Given the description of an element on the screen output the (x, y) to click on. 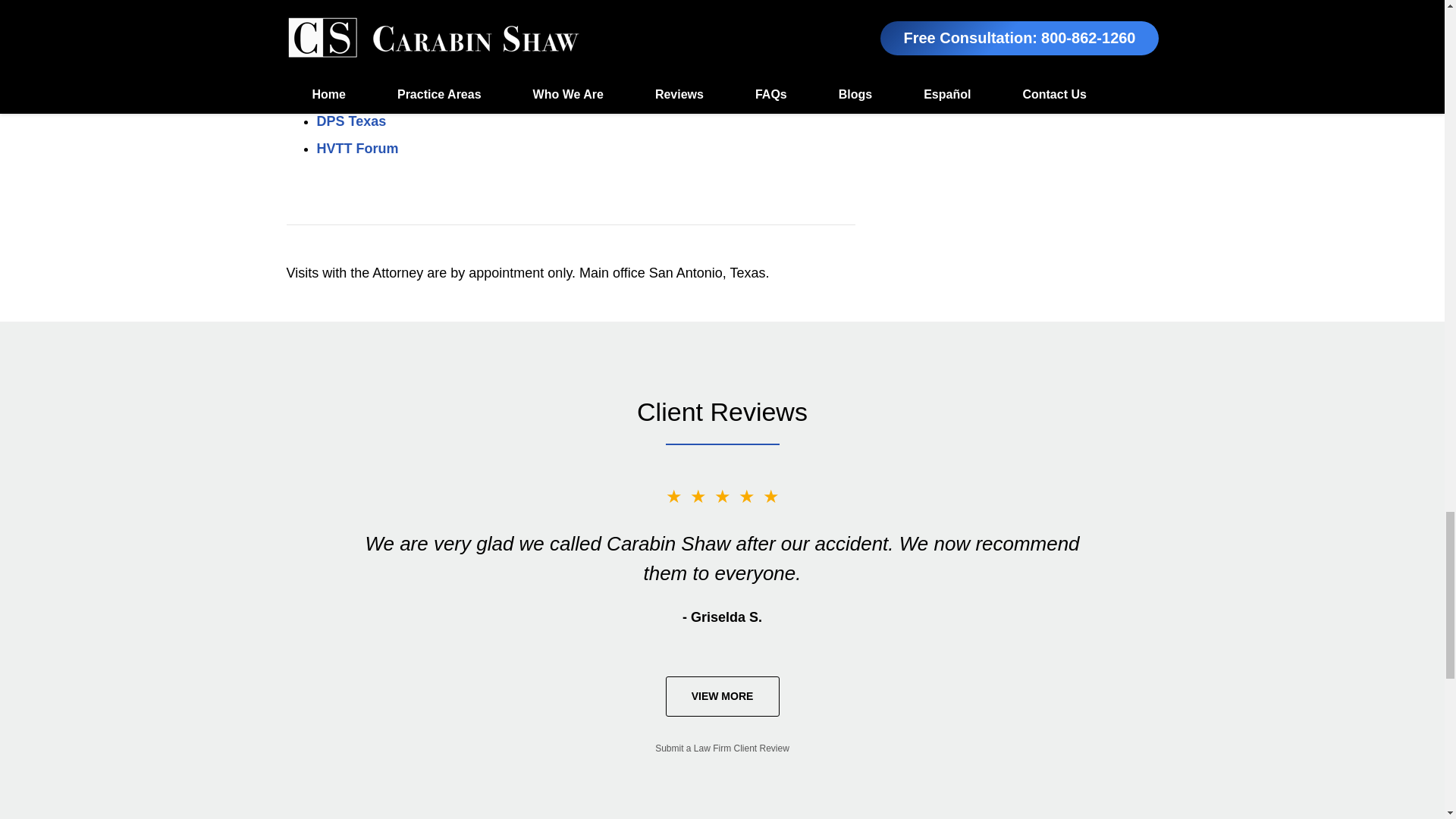
DOI.org (341, 93)
DPS Texas (352, 120)
HVTT Forum (357, 148)
